Given the description of an element on the screen output the (x, y) to click on. 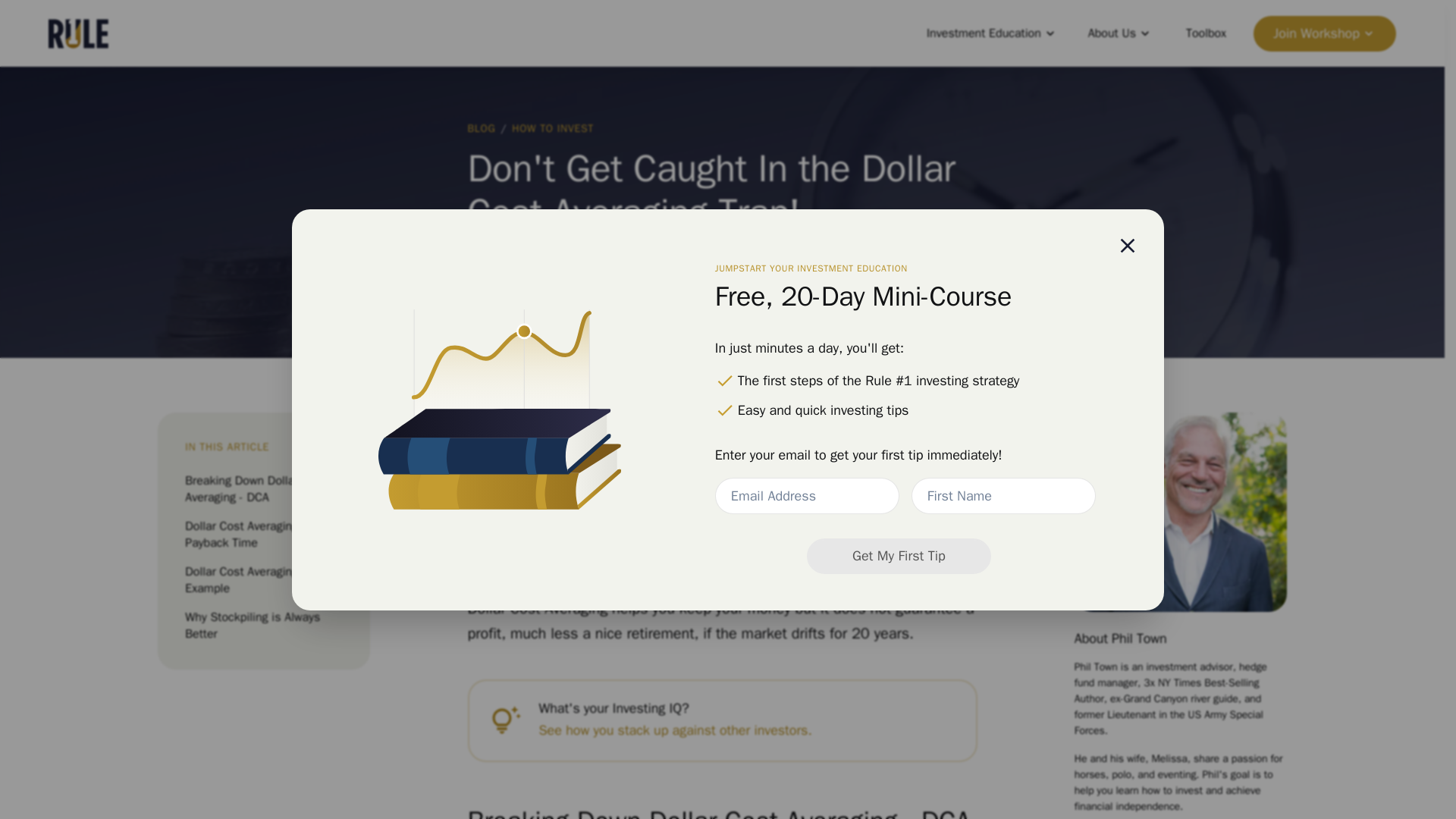
Breaking Down Dollar Cost Averaging - DCA (263, 489)
Join Workshop (1324, 32)
Investment Education (992, 33)
Dollar Cost Averaging vs. Payback Time (263, 534)
See how you stack up against other investors. (674, 731)
About Us (1119, 33)
Toolbox (1205, 33)
Why Stockpiling is Always Better (263, 625)
Dollar Cost Averaging Example (263, 580)
HOW TO INVEST (553, 128)
BLOG (481, 128)
